Given the description of an element on the screen output the (x, y) to click on. 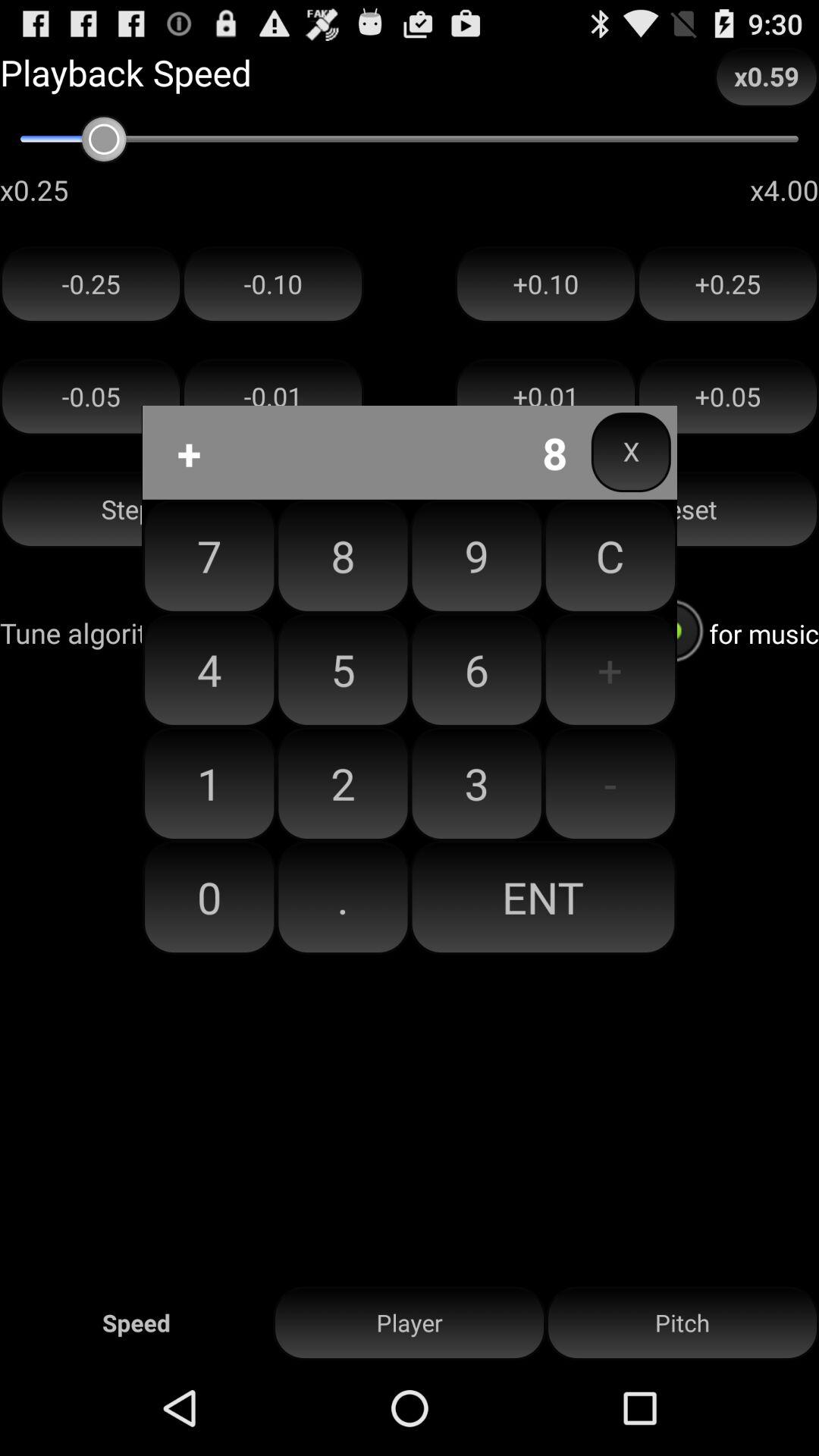
choose the item above the 4 item (208, 556)
